Given the description of an element on the screen output the (x, y) to click on. 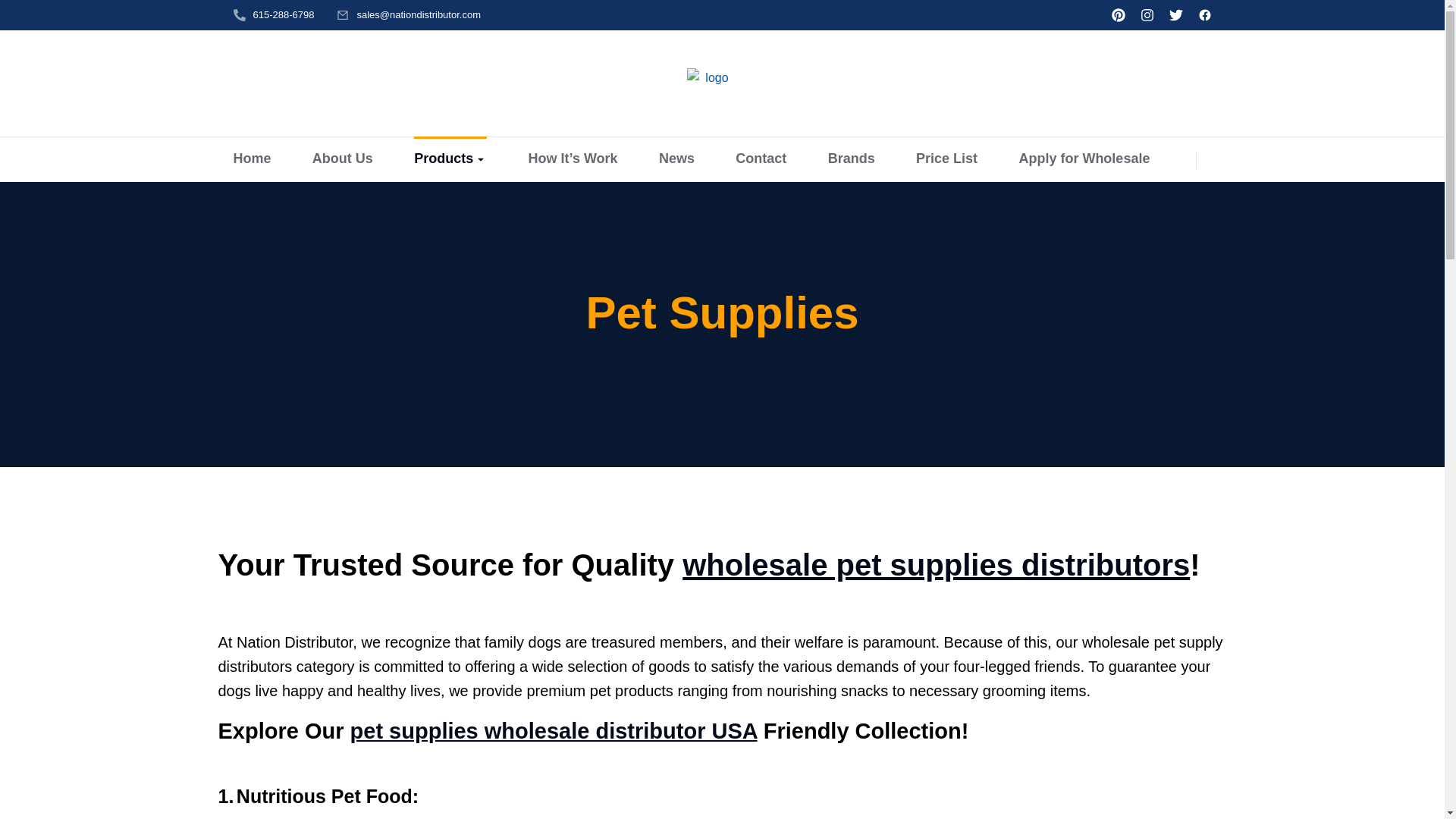
Apply for Wholesale (1083, 158)
About Us (342, 158)
wholesale pet supplies distributors (935, 564)
Products (449, 158)
pet supplies wholesale distributor USA (553, 730)
Price List (945, 158)
615-288-6798 (283, 14)
Brands (851, 158)
Contact (760, 158)
